Given the description of an element on the screen output the (x, y) to click on. 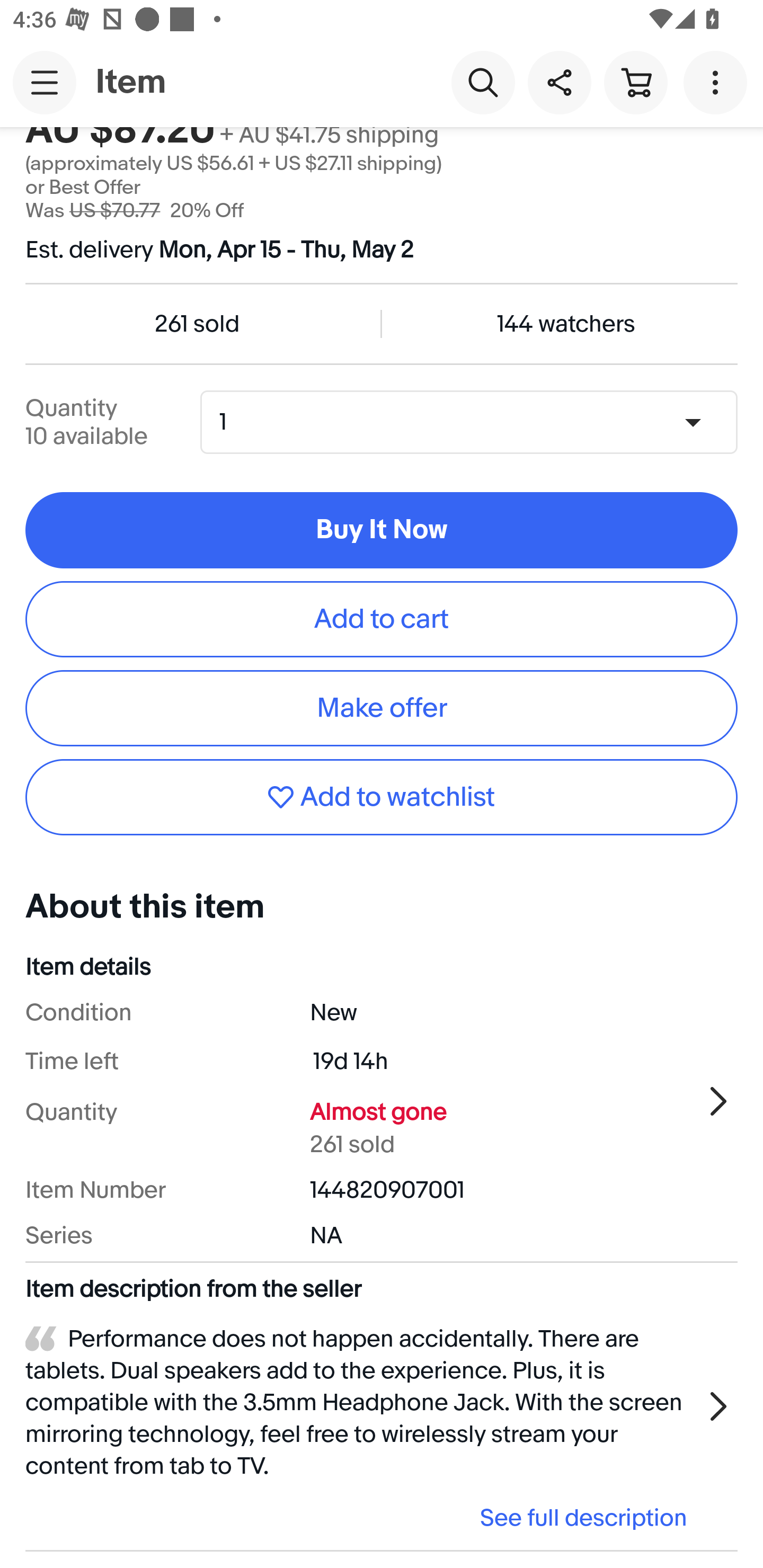
Main navigation, open (44, 82)
Search (482, 81)
Share this item (559, 81)
Cart button shopping cart (635, 81)
More options (718, 81)
Quantity,1,10 available 1 (474, 421)
Buy It Now (381, 529)
Add to cart (381, 618)
Make offer (381, 707)
Add to watchlist (381, 796)
See full description (362, 1516)
